Given the description of an element on the screen output the (x, y) to click on. 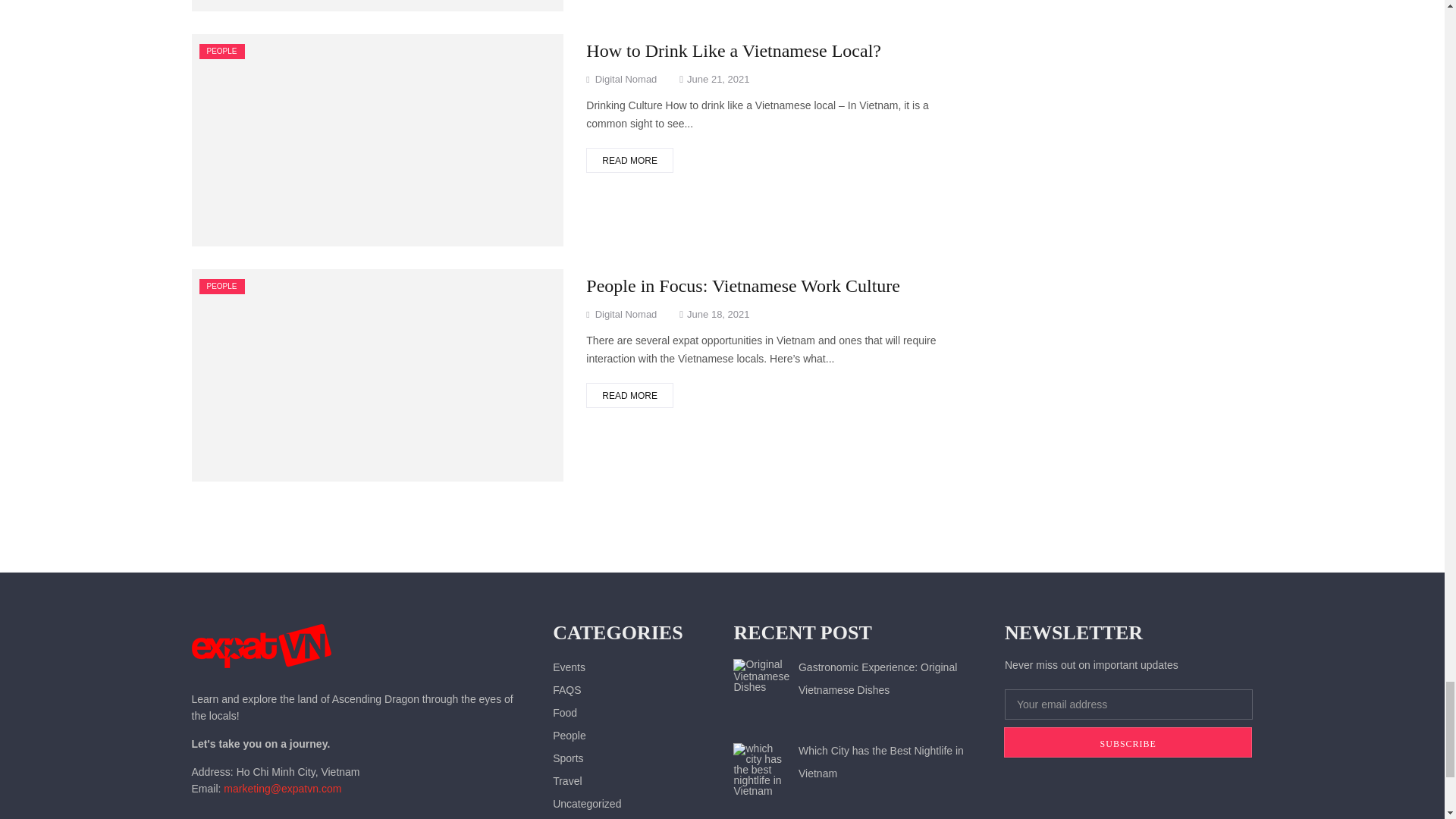
Subscribe (1128, 742)
